Given the description of an element on the screen output the (x, y) to click on. 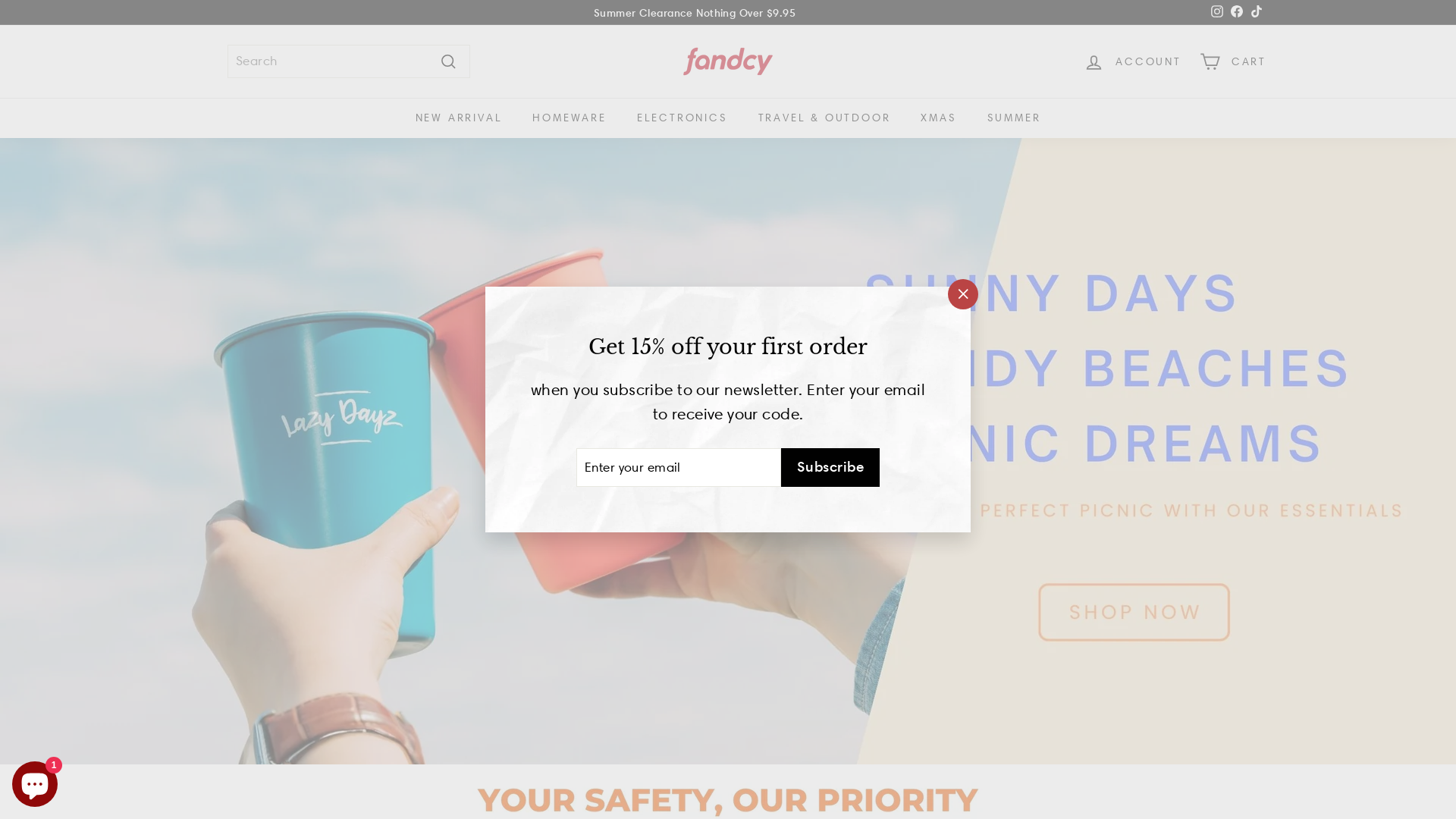
TikTok Element type: text (1256, 12)
NEW ARRIVAL Element type: text (458, 117)
XMAS Element type: text (938, 117)
Shopify online store chat Element type: hover (34, 780)
Instagram Element type: text (1216, 12)
ACCOUNT Element type: text (1132, 61)
Subscribe Element type: text (830, 467)
Facebook Element type: text (1236, 12)
"Close (esc)" Element type: text (962, 294)
SUMMER Element type: text (1014, 117)
